Given the description of an element on the screen output the (x, y) to click on. 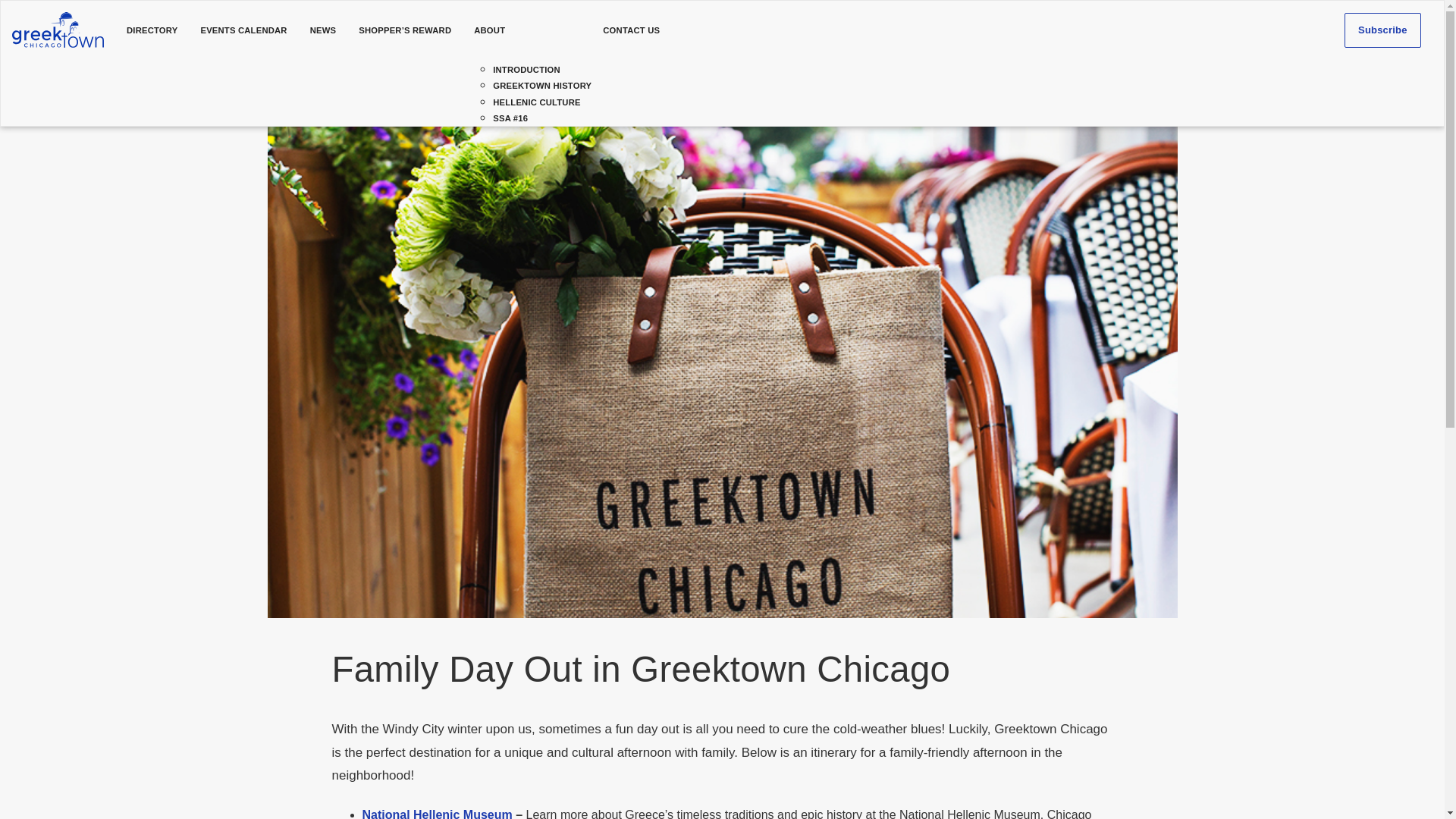
NEWS (322, 30)
ABOUT (527, 30)
HELLENIC CULTURE (536, 102)
INTRODUCTION (526, 69)
CONTACT US (631, 30)
Subscribe (1382, 30)
National Hellenic Museum (437, 813)
GREEKTOWN HISTORY (542, 85)
DIRECTORY (152, 30)
EVENTS CALENDAR (243, 30)
